Given the description of an element on the screen output the (x, y) to click on. 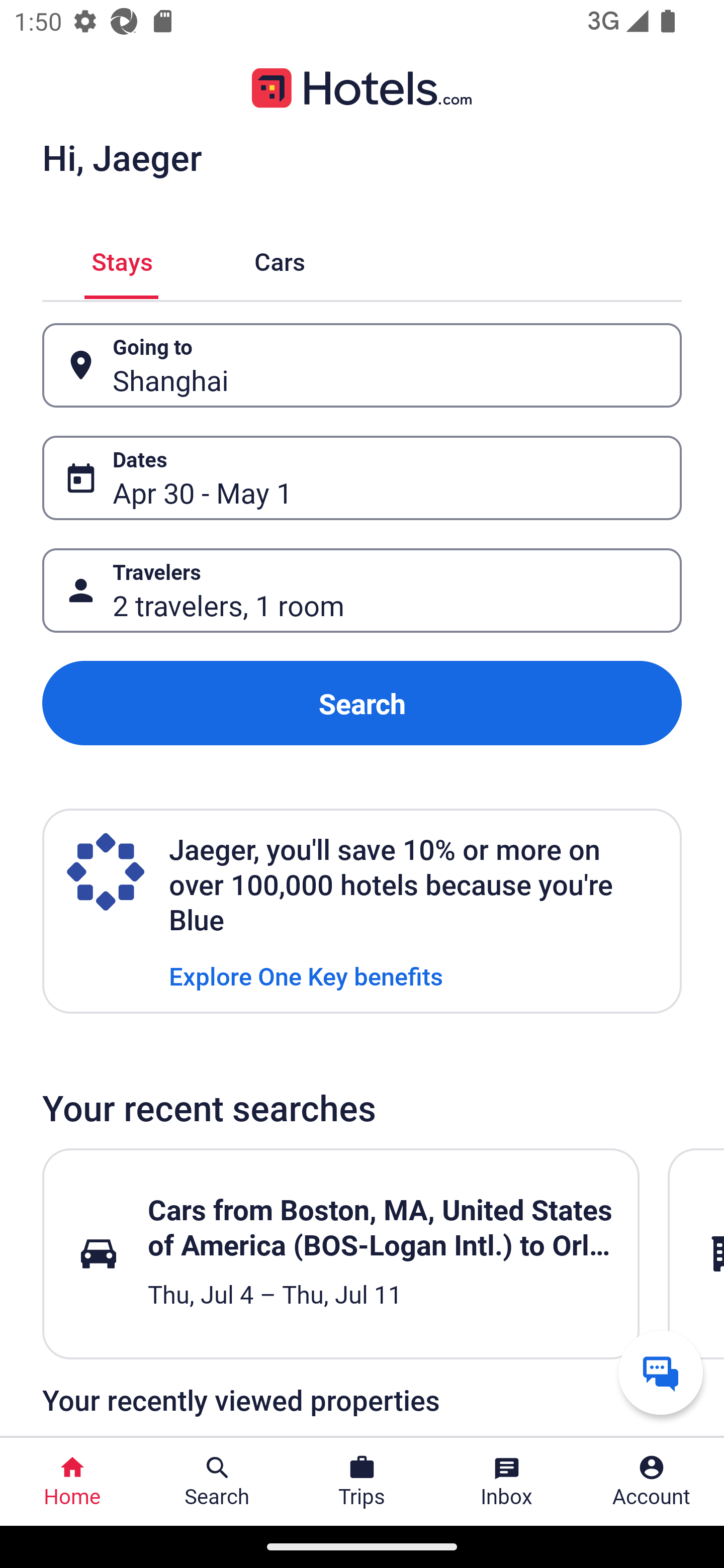
Hi, Jaeger (121, 156)
Cars (279, 259)
Going to Button Shanghai (361, 365)
Dates Button Apr 30 - May 1 (361, 477)
Travelers Button 2 travelers, 1 room (361, 590)
Search (361, 702)
Get help from a virtual agent (660, 1371)
Search Search Button (216, 1481)
Trips Trips Button (361, 1481)
Inbox Inbox Button (506, 1481)
Account Profile. Button (651, 1481)
